Given the description of an element on the screen output the (x, y) to click on. 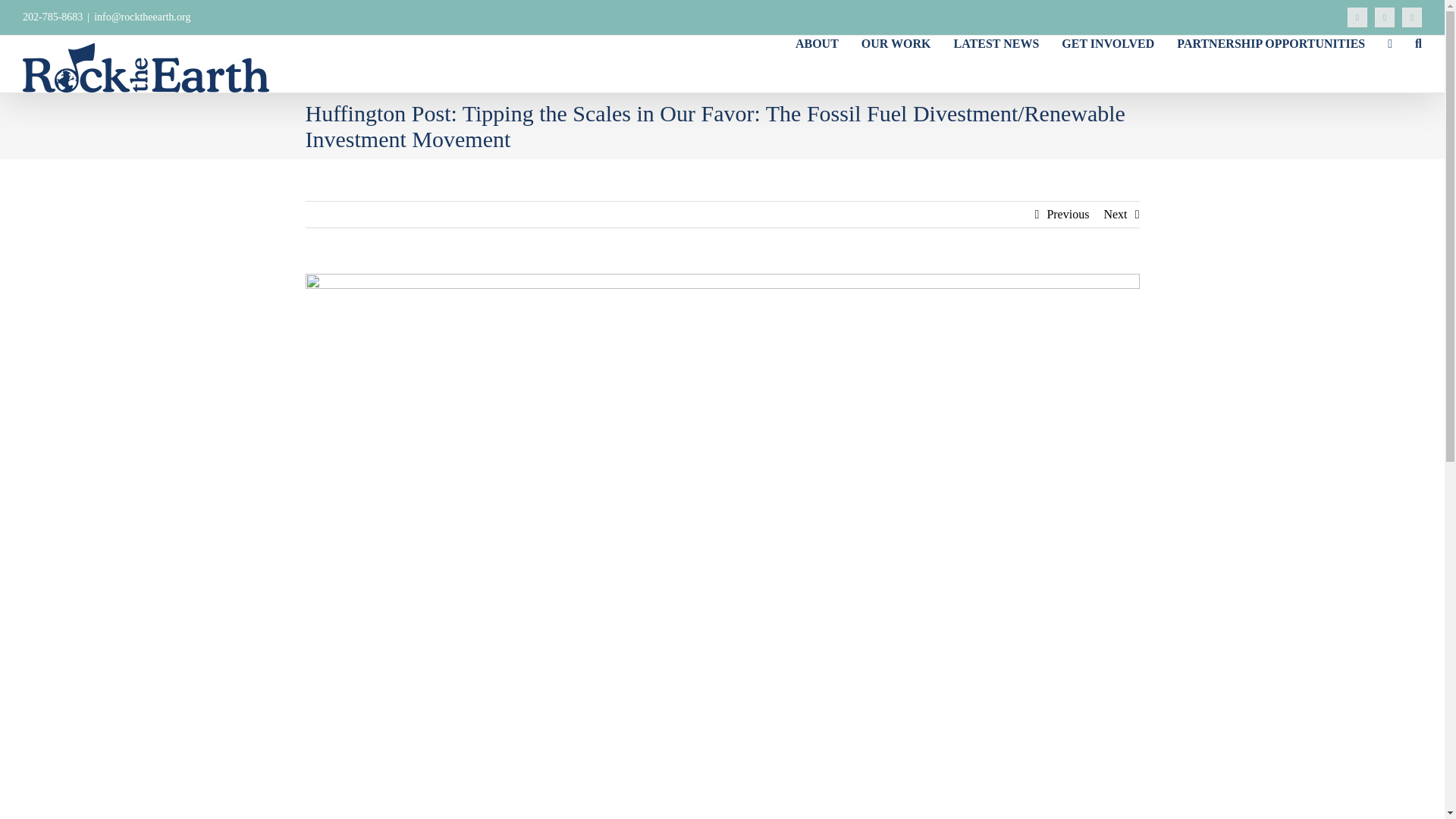
PARTNERSHIP OPPORTUNITIES (1270, 42)
GET INVOLVED (1107, 42)
OUR WORK (896, 42)
Twitter (1384, 17)
Instagram (1412, 17)
ABOUT (816, 42)
Facebook (1357, 17)
Next (1114, 214)
Facebook (1357, 17)
